Given the description of an element on the screen output the (x, y) to click on. 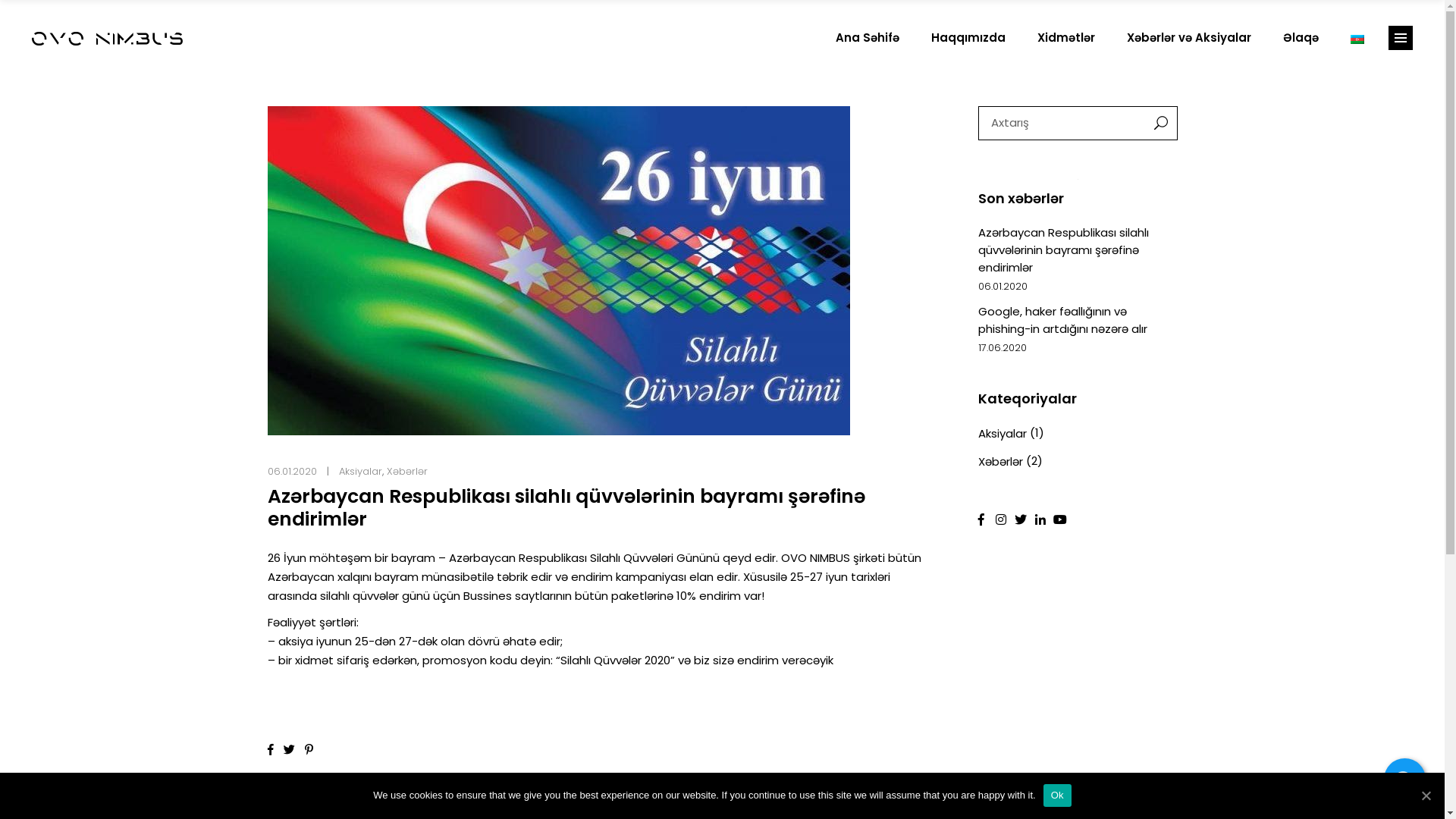
Aksiyalar Element type: text (359, 471)
17.06.2020 Element type: text (1002, 347)
Ok Element type: text (1057, 795)
06.01.2020 Element type: text (291, 471)
Aksiyalar Element type: text (1002, 433)
06.01.2020 Element type: text (1002, 286)
Search for: Element type: hover (1059, 122)
